Given the description of an element on the screen output the (x, y) to click on. 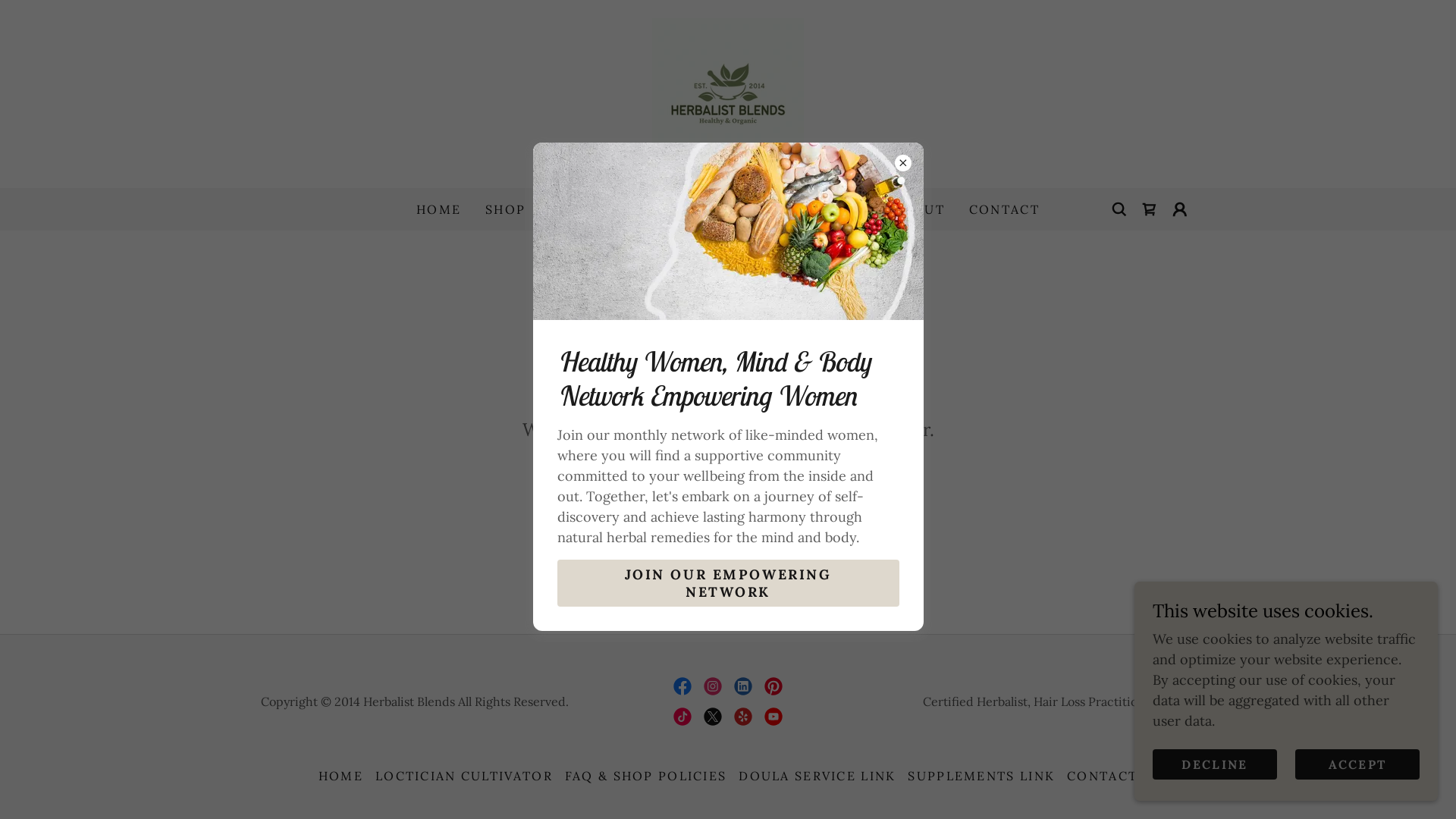
CONTACT Element type: text (1004, 208)
DOULA SERVICE LINK Element type: text (816, 775)
HOME Element type: text (340, 775)
HOME Element type: text (438, 208)
SUPPLEMENTS LINK Element type: text (980, 775)
CONTACT Element type: text (1101, 775)
Herbalist Blends Element type: hover (727, 92)
ACCEPT Element type: text (1357, 764)
JOIN OUR EMPOWERING NETWORK Element type: text (727, 582)
FAQ & SHOP POLICIES Element type: text (645, 775)
ABOUT Element type: text (918, 208)
DECLINE Element type: text (1214, 764)
GO TO HOME PAGE Element type: text (727, 488)
BOOKING Element type: text (732, 208)
GUIDANCE Element type: text (830, 208)
SHOP Element type: text (505, 208)
CONSULTATIONS Element type: text (611, 208)
LOCTICIAN CULTIVATOR Element type: text (463, 775)
